Given the description of an element on the screen output the (x, y) to click on. 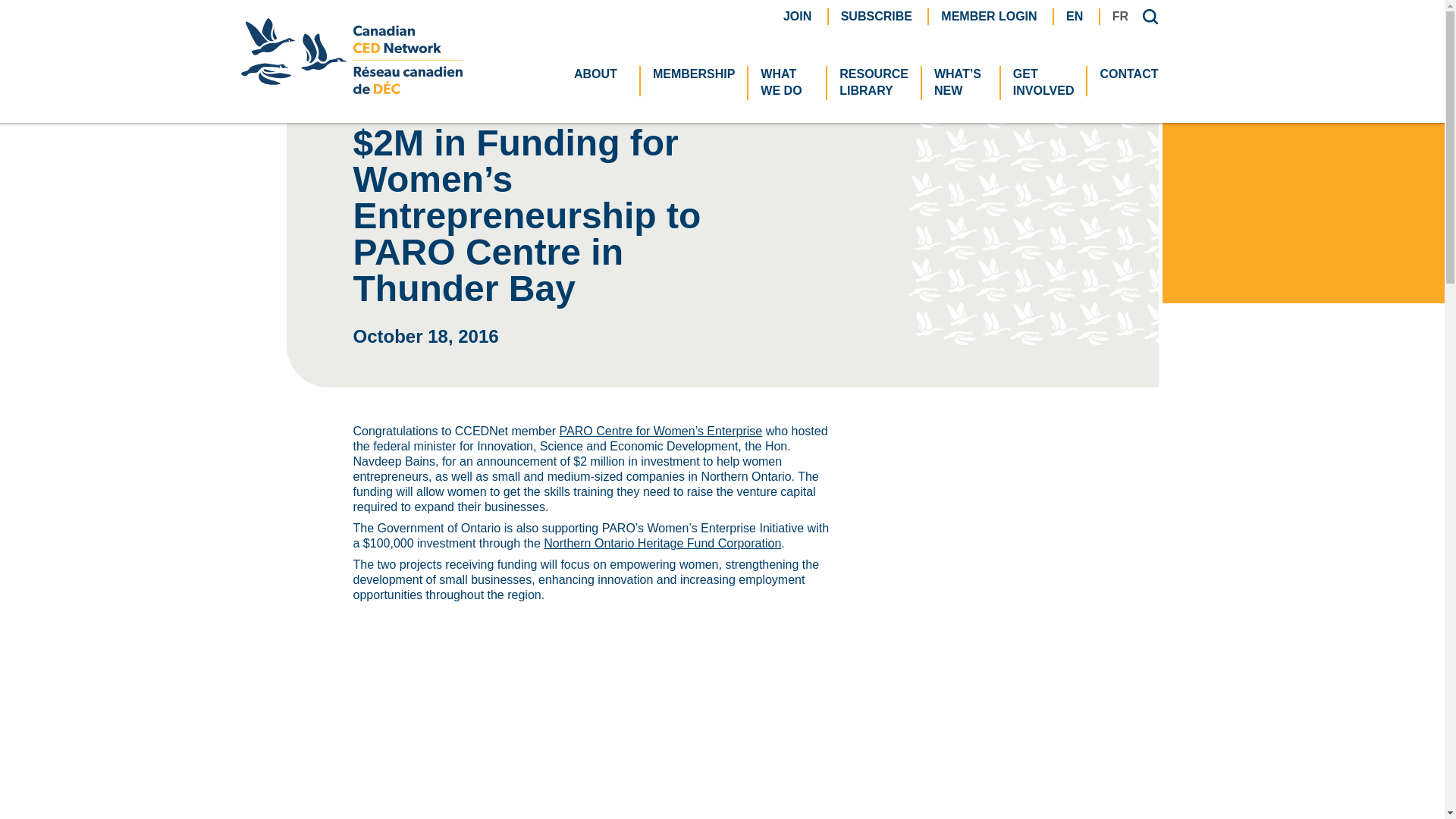
Canadian CED Network (352, 89)
Home (369, 37)
RESOURCE LIBRARY (874, 82)
MEMBER LOGIN (988, 15)
Northern Ontario Heritage Fund Corporation (661, 543)
EN (1074, 15)
GET INVOLVED (786, 82)
ABOUT (1043, 82)
MEMBERSHIP (600, 74)
